Given the description of an element on the screen output the (x, y) to click on. 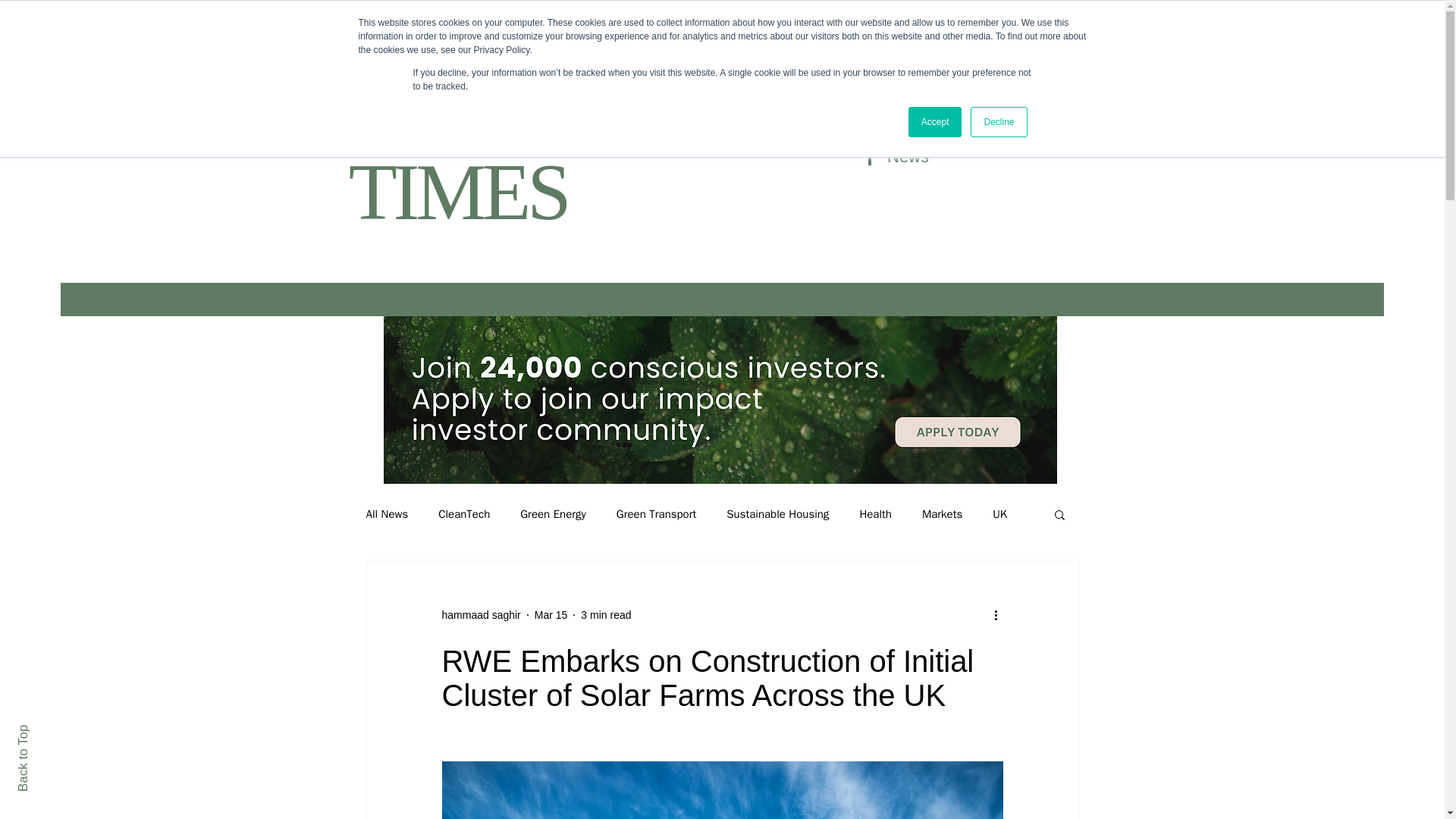
Decline (998, 122)
SUSTAINABLE TIMES (457, 159)
hammaad saghir (480, 614)
Advertise (718, 24)
Events (637, 24)
All News (386, 513)
3 min read (605, 613)
Resources (553, 24)
Investor Community (284, 24)
Explore Funding (437, 24)
